Given the description of an element on the screen output the (x, y) to click on. 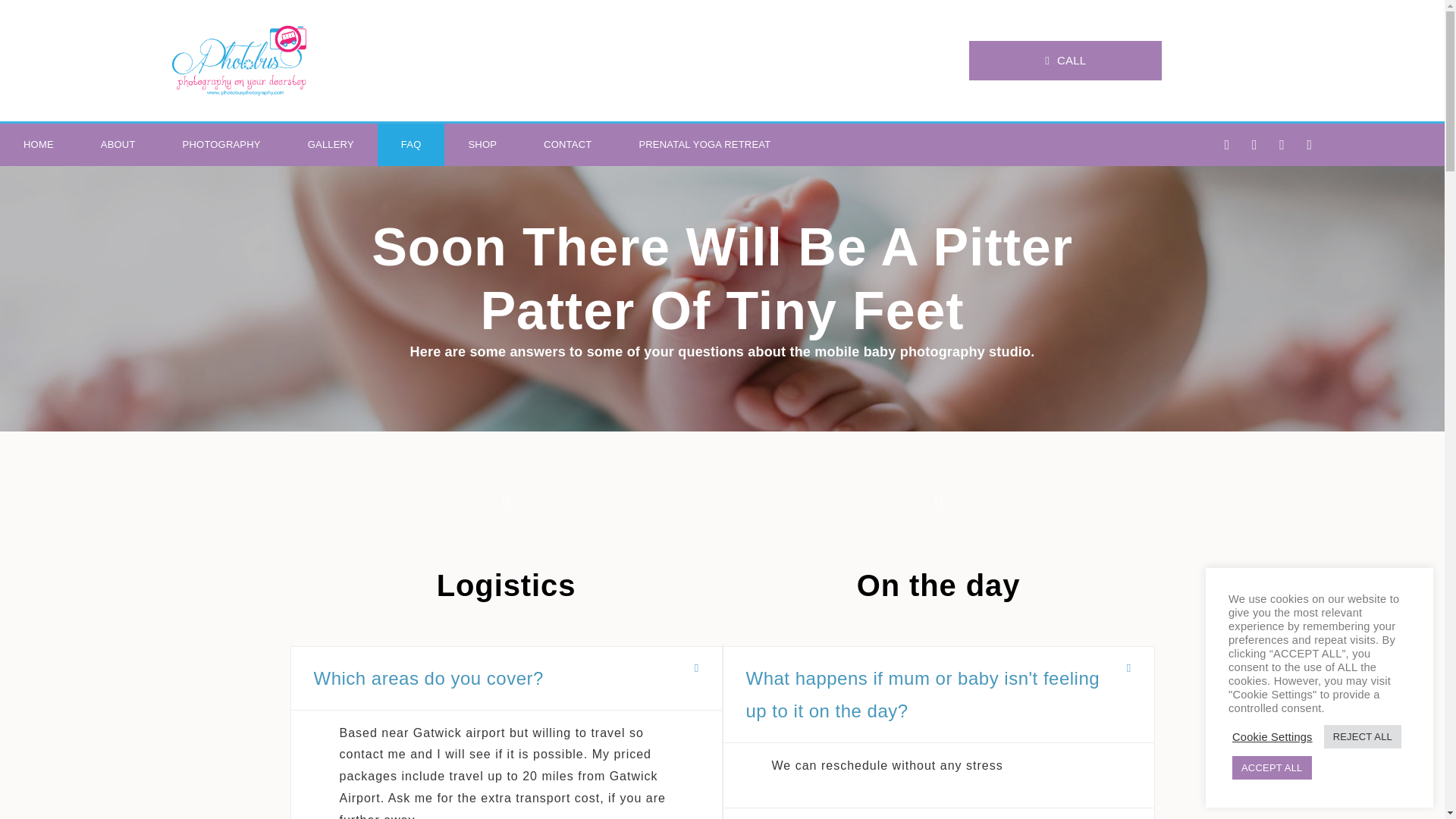
Youtube (1254, 144)
Twitter (1309, 144)
Which areas do you cover? (428, 677)
PHOTOGRAPHY (220, 144)
PRENATAL YOGA RETREAT (703, 144)
Pinterest (1281, 144)
HOME (38, 144)
SHOP (481, 144)
CALL (1073, 56)
ABOUT (117, 144)
Facebook (1226, 144)
CONTACT (566, 144)
GALLERY (330, 144)
FAQ (411, 144)
